Given the description of an element on the screen output the (x, y) to click on. 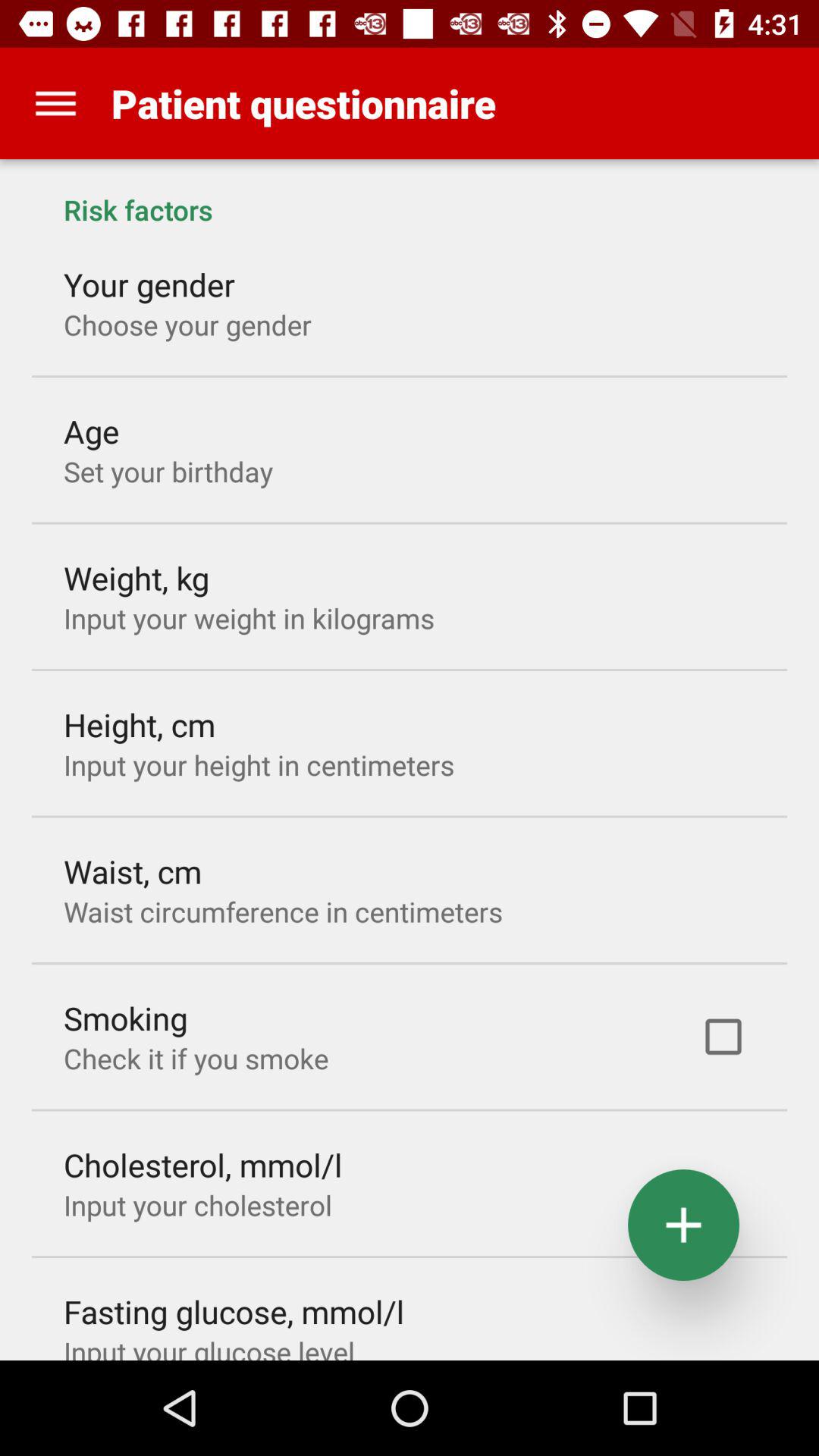
scroll until weight, kg app (136, 577)
